Given the description of an element on the screen output the (x, y) to click on. 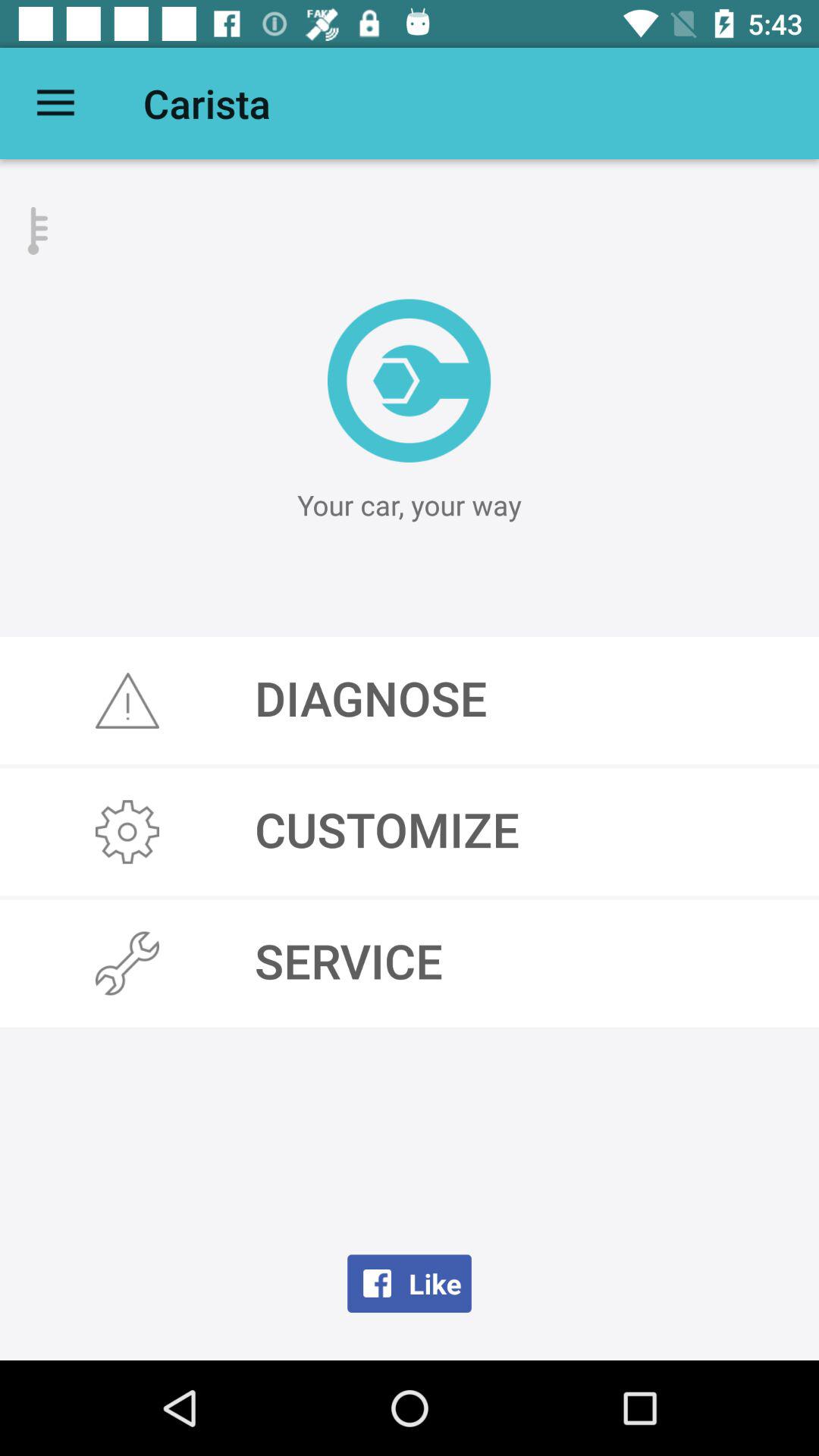
turn off the item to the left of carista (55, 103)
